Given the description of an element on the screen output the (x, y) to click on. 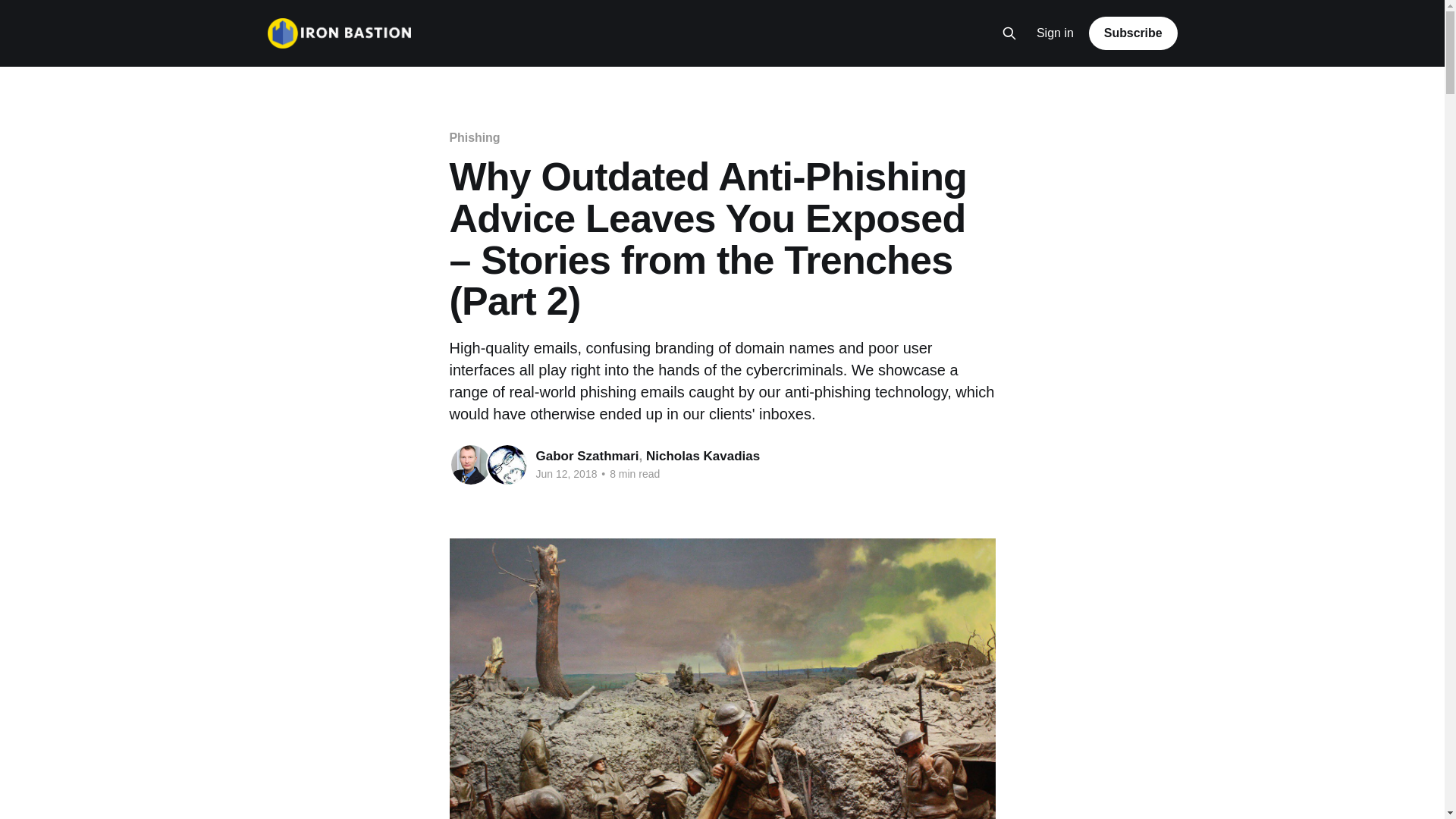
Nicholas Kavadias Element type: text (702, 455)
Gabor Szathmari Element type: text (586, 455)
Sign in Element type: text (1054, 33)
Subscribe Element type: text (1132, 33)
Phishing Element type: text (473, 137)
